Given the description of an element on the screen output the (x, y) to click on. 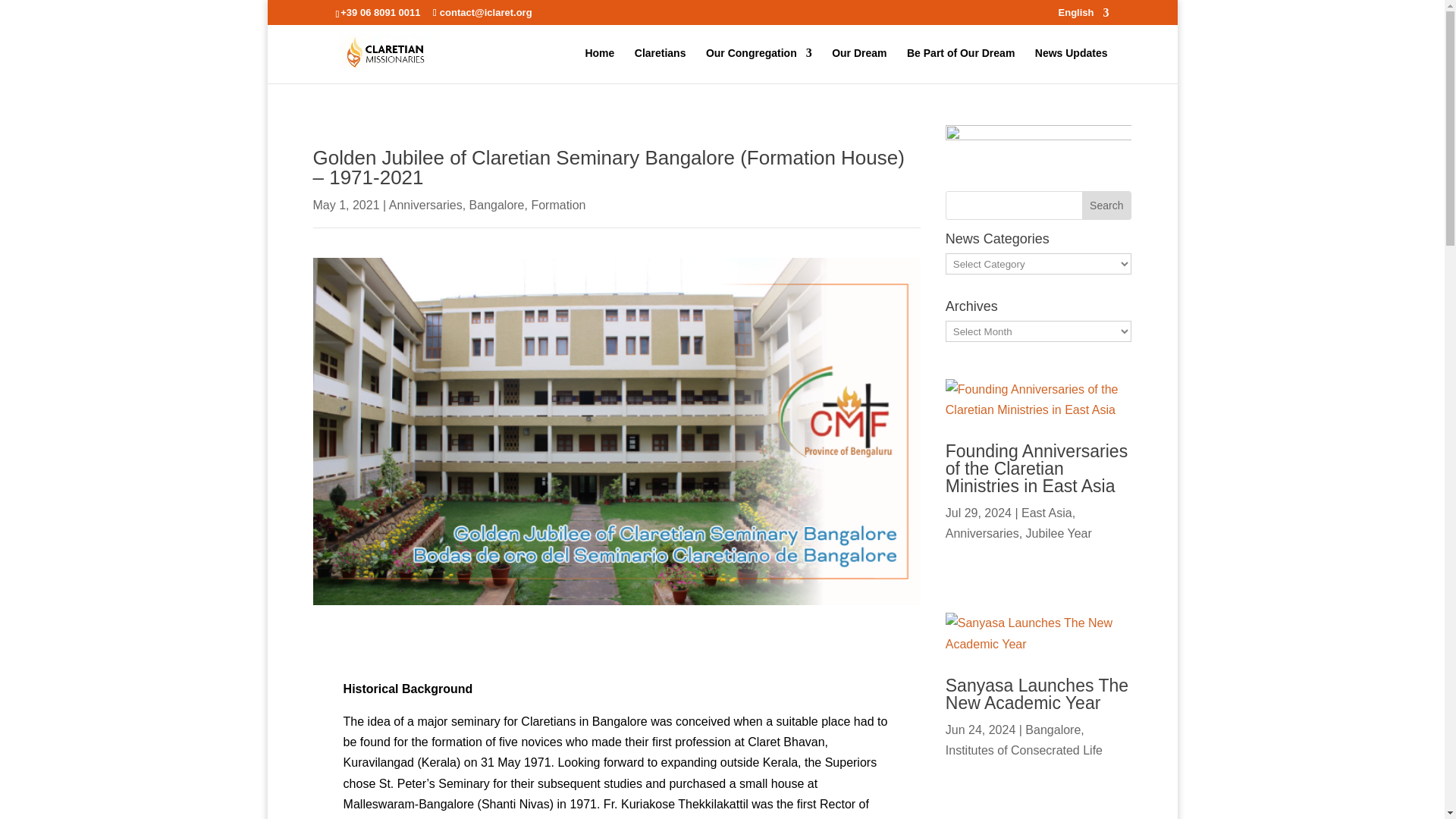
Formation (558, 205)
English (1083, 16)
Search (1106, 204)
Search (1106, 204)
Search (1106, 204)
Jubilee Year (1059, 608)
Our Dream (858, 65)
Bangalore (496, 205)
East Asia (1046, 587)
